Given the description of an element on the screen output the (x, y) to click on. 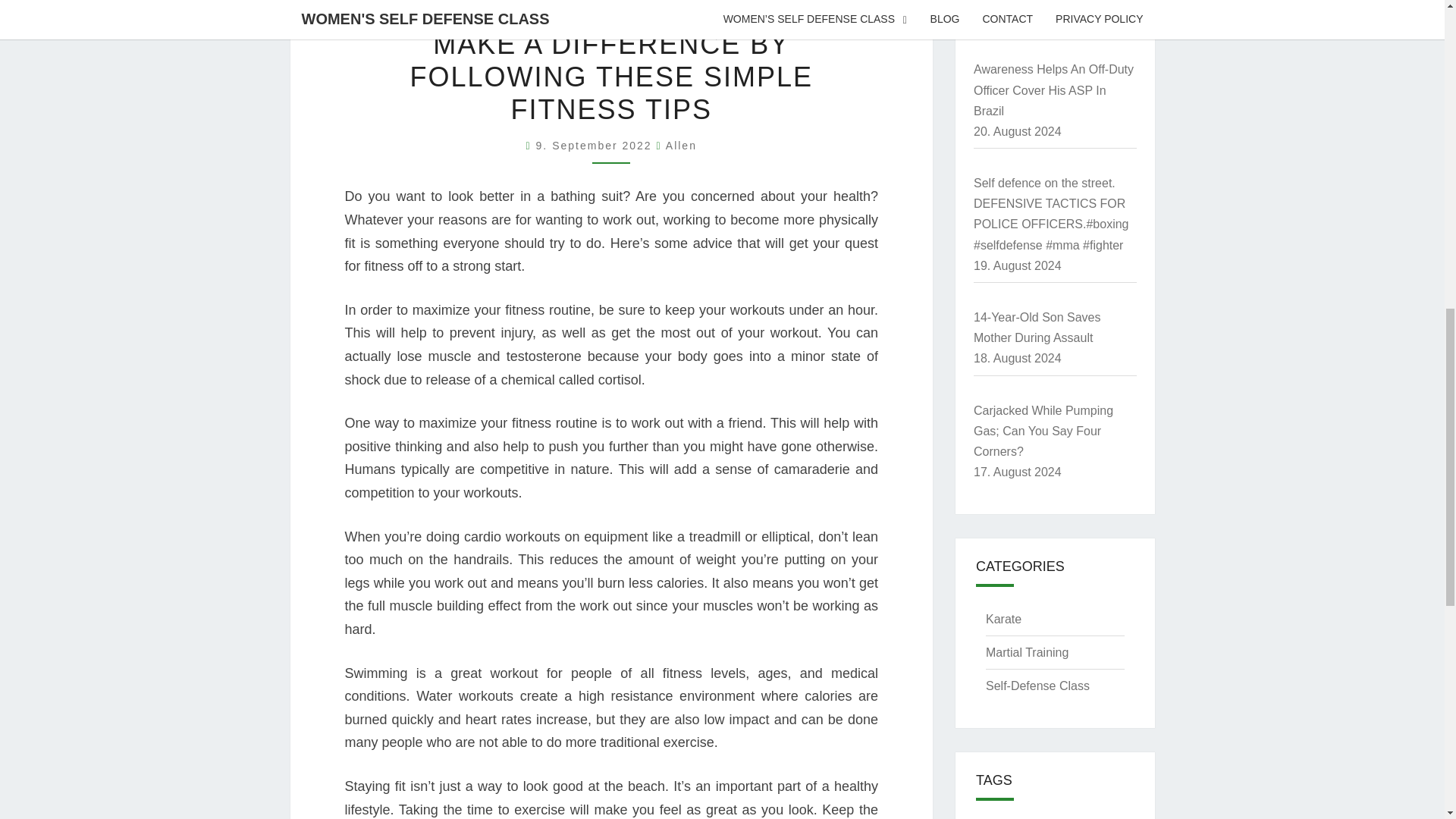
9. September 2022 (595, 145)
View all posts by allen (681, 145)
Karate (1003, 618)
Allen (681, 145)
Quick Actions From Deputy Save His Life (1047, 2)
Self-Defense Class (1037, 685)
02:00 (595, 145)
Awareness Helps An Off-Duty Officer Cover His ASP In Brazil (1054, 90)
Martial Training (1026, 652)
Carjacked While Pumping Gas; Can You Say Four Corners? (1043, 430)
